Given the description of an element on the screen output the (x, y) to click on. 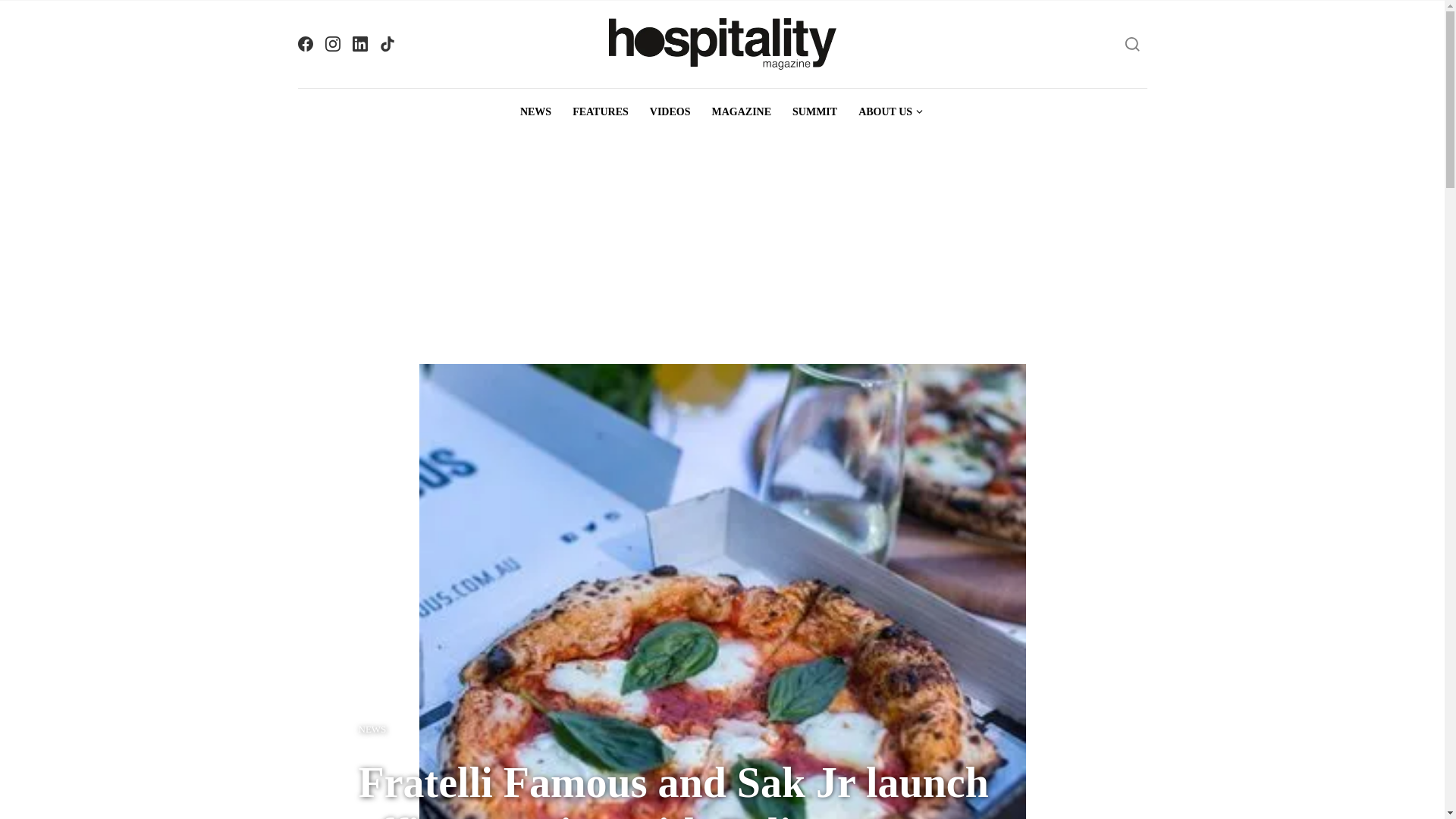
ABOUT US (890, 111)
View all posts in News (372, 729)
SUMMIT (814, 111)
FEATURES (600, 111)
NEWS (372, 729)
MAGAZINE (740, 111)
NEWS (535, 111)
VIDEOS (670, 111)
